Given the description of an element on the screen output the (x, y) to click on. 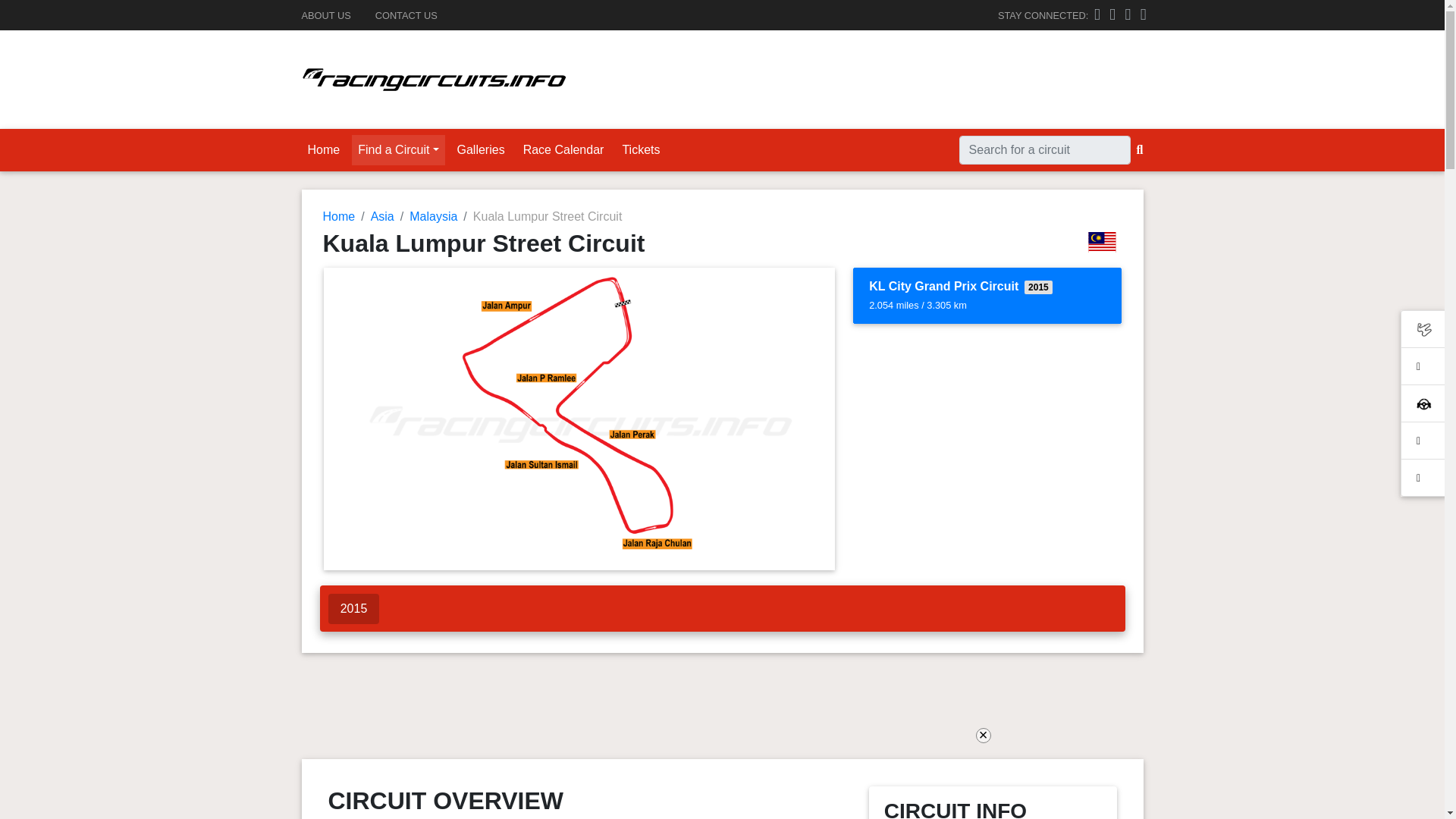
Malaysia (433, 215)
2015 (354, 608)
Home (323, 150)
ABOUT US (325, 15)
CONTACT US (405, 15)
Galleries (481, 150)
Race Calendar (563, 150)
Tickets (640, 150)
Asia (382, 215)
Home (339, 215)
